Given the description of an element on the screen output the (x, y) to click on. 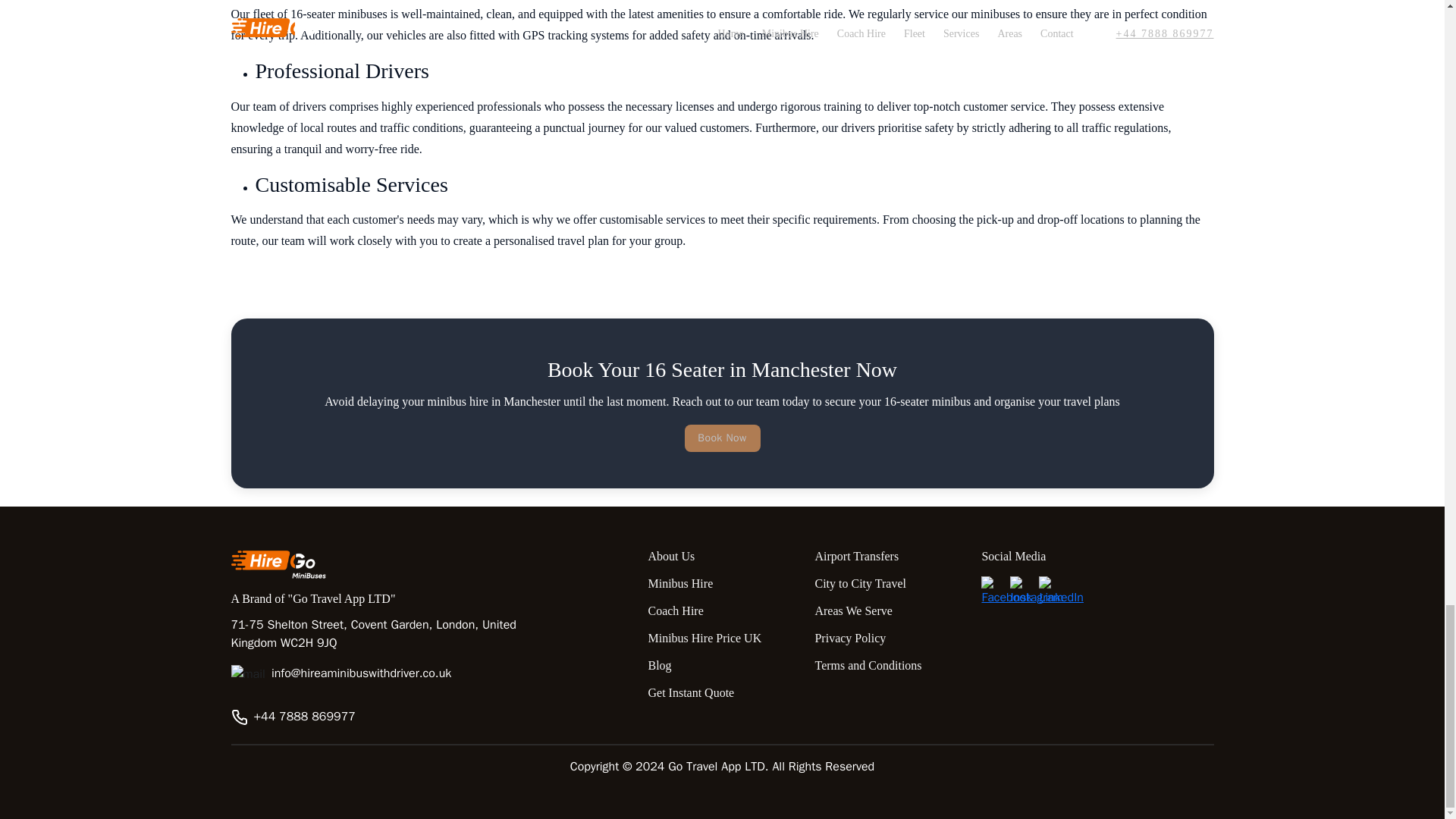
Blog (721, 665)
Minibus Hire (721, 583)
Minibus Hire Price UK (721, 637)
Coach Hire (721, 610)
Book Now (722, 438)
About Us (721, 556)
